Given the description of an element on the screen output the (x, y) to click on. 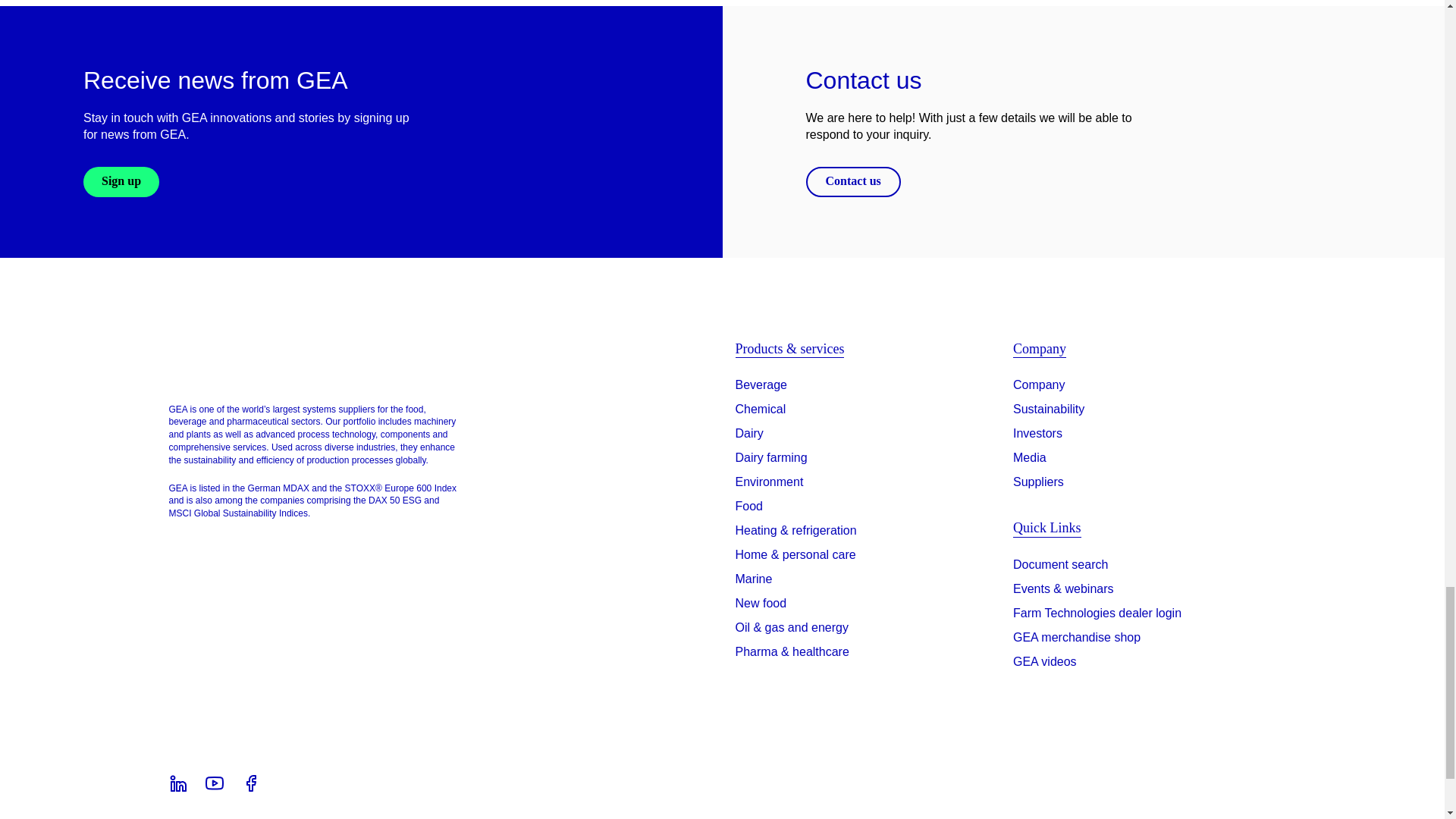
Events (1063, 591)
Media (1029, 457)
Company (1038, 384)
Search (1060, 567)
Investors (1037, 434)
Sustainability (1048, 409)
Suppliers (1038, 482)
